Given the description of an element on the screen output the (x, y) to click on. 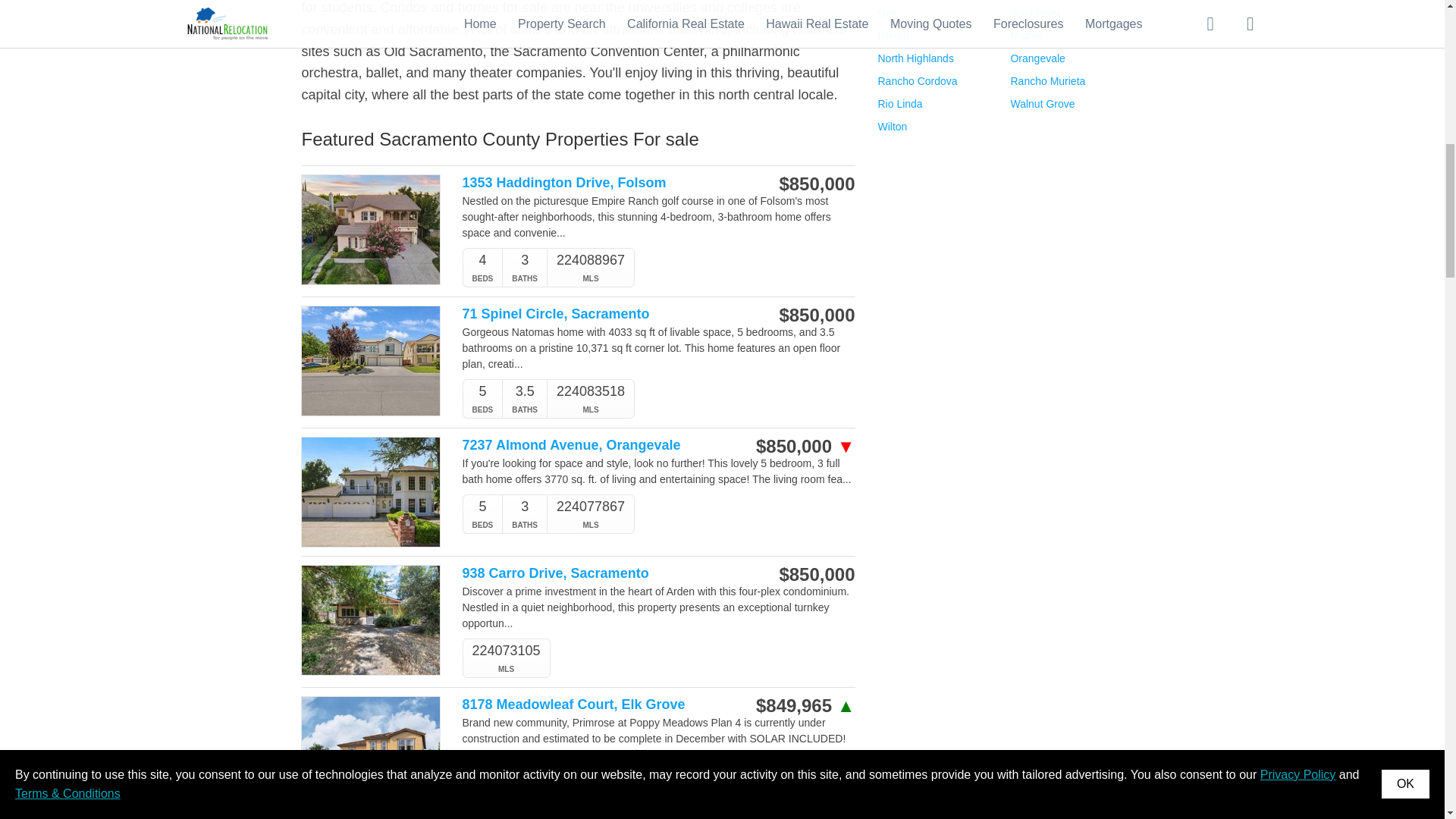
8178 Meadowleaf Court, Elk Grove (600, 704)
1353 Haddington Drive, Folsom (600, 182)
71 Spinel Circle, Sacramento (600, 314)
938 Carro Drive, Sacramento (600, 573)
7237 Almond Avenue, Orangevale (600, 445)
